Given the description of an element on the screen output the (x, y) to click on. 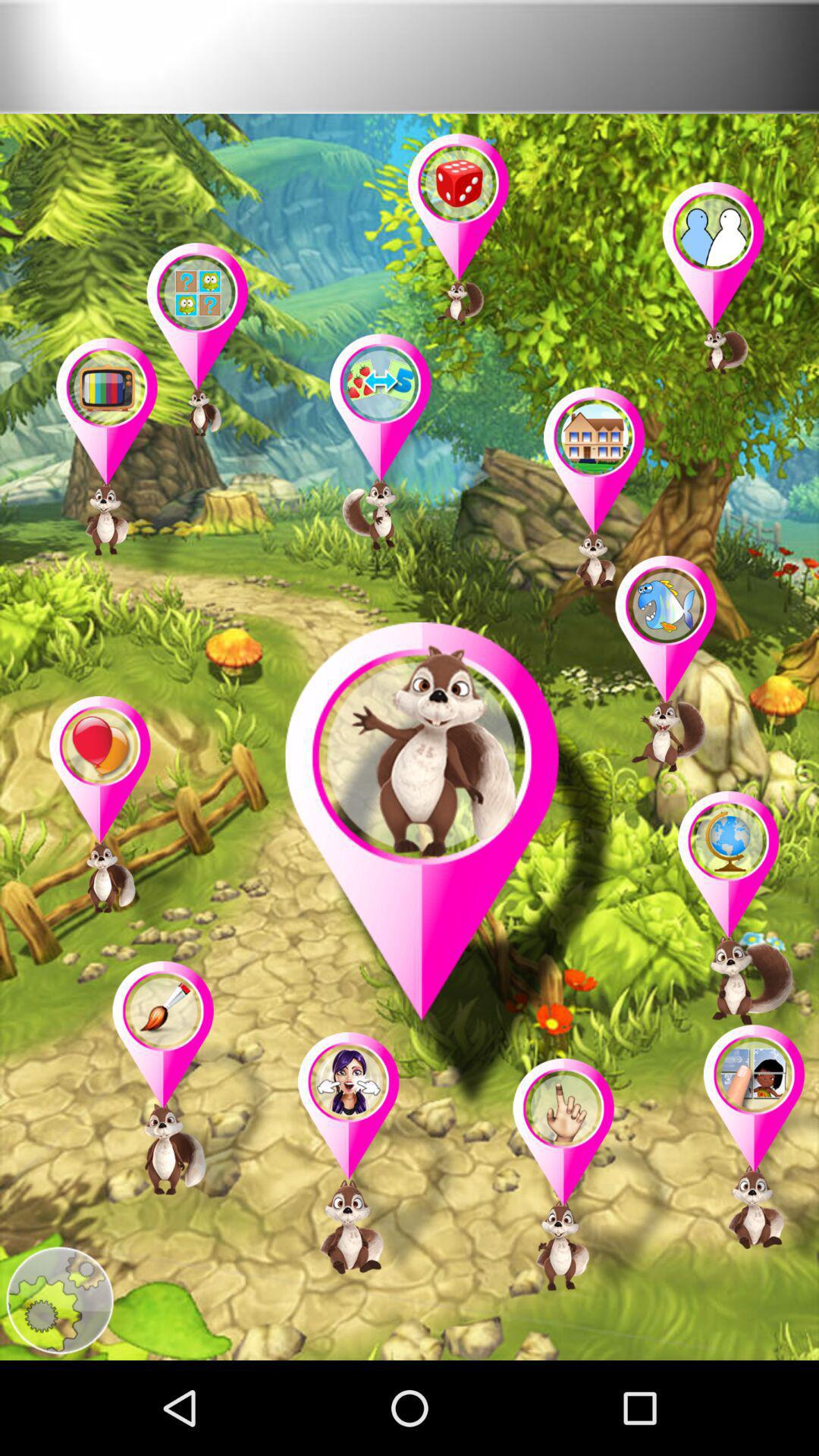
setting option (59, 1300)
